Given the description of an element on the screen output the (x, y) to click on. 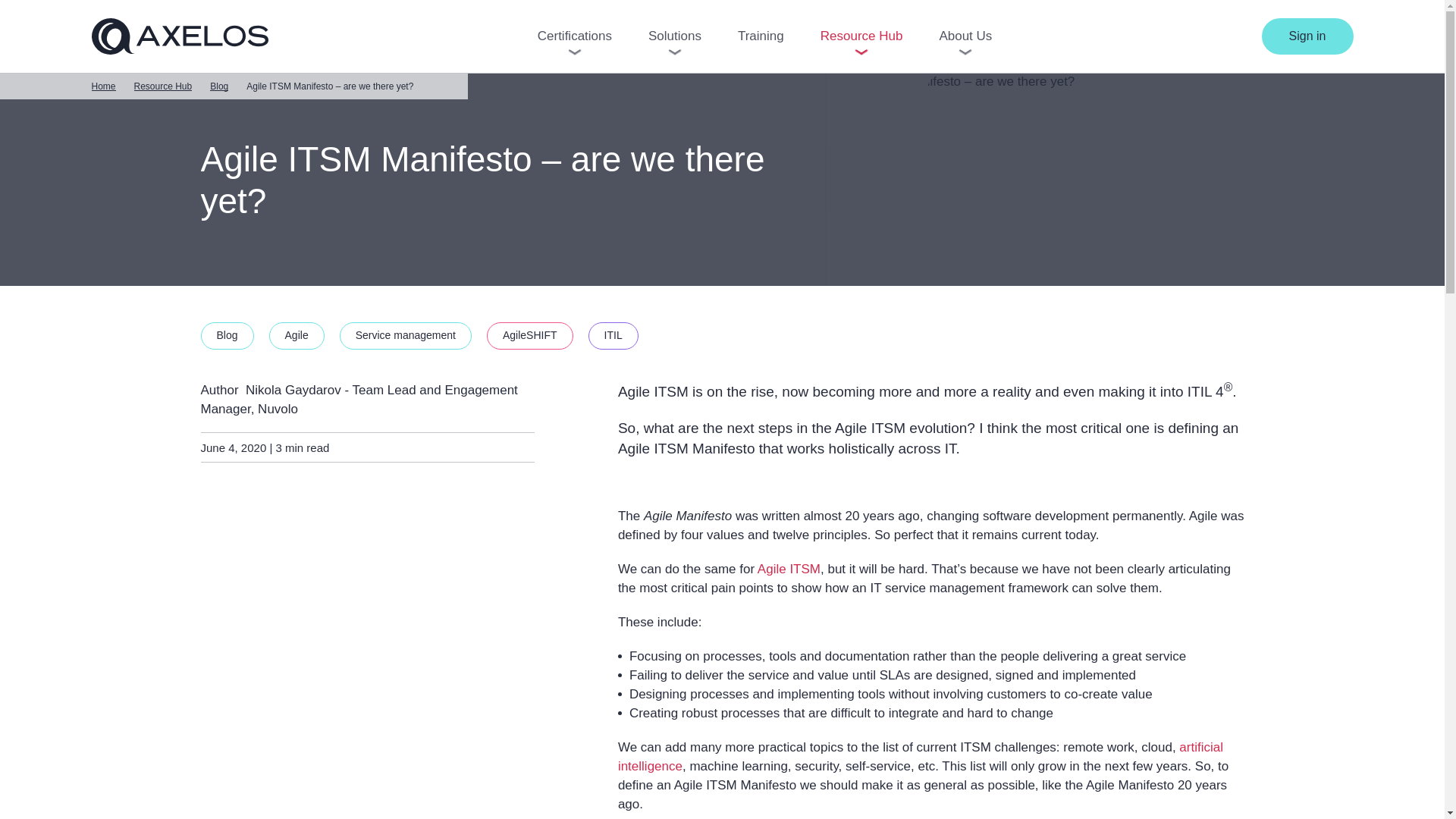
Sign in (1308, 36)
Blog (218, 86)
Resource Hub (162, 86)
artificial intelligence (920, 756)
Agile ITSM (789, 568)
Certifications (574, 36)
Resource Hub (861, 36)
Home (102, 86)
